Given the description of an element on the screen output the (x, y) to click on. 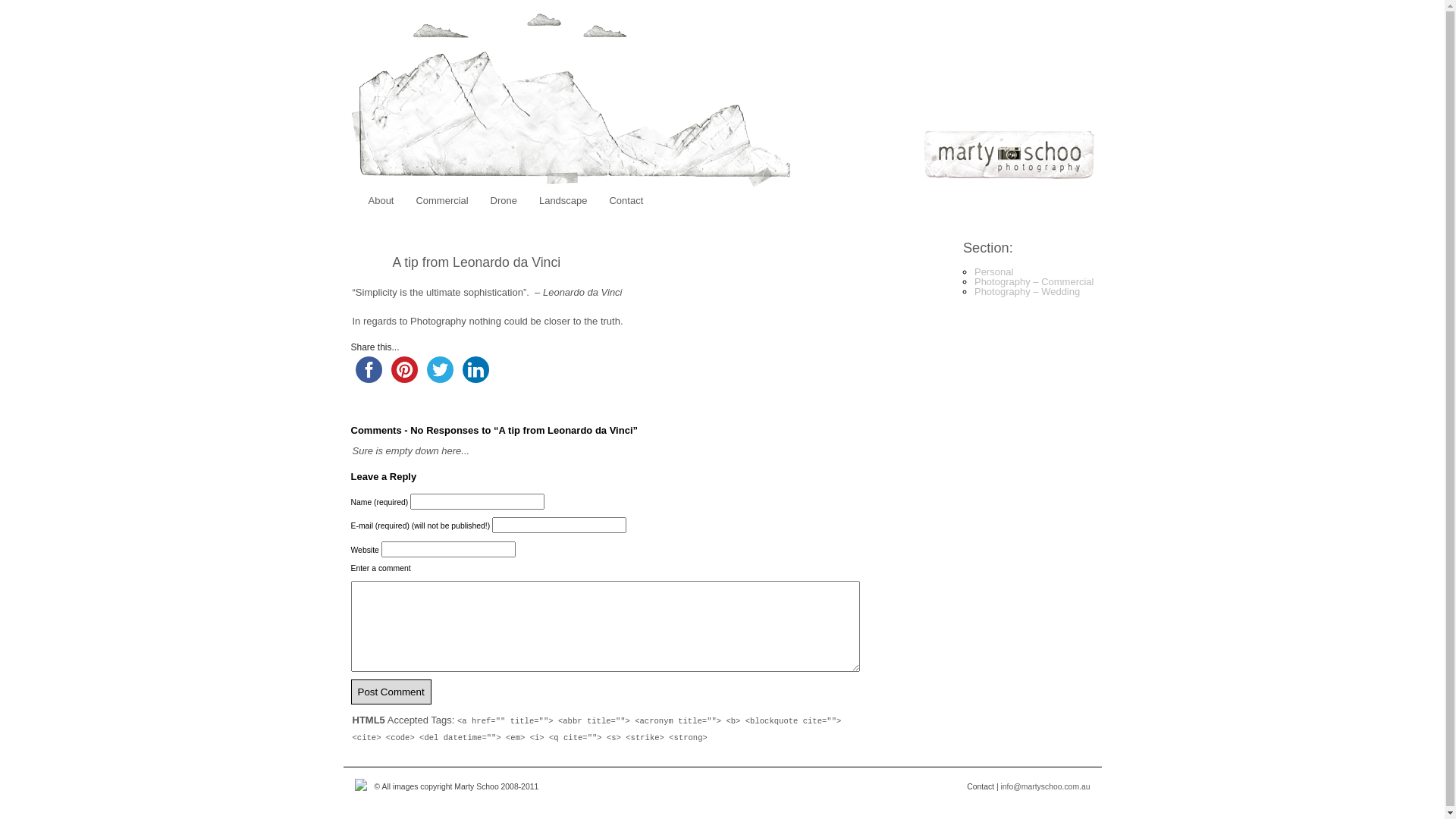
linkedin Element type: hover (475, 369)
Drone Element type: text (503, 200)
About Element type: text (380, 200)
Post Comment Element type: text (390, 691)
Landscape Element type: text (563, 200)
twitter Element type: hover (439, 369)
info@martyschoo.com.au Element type: text (1045, 786)
pinterest Element type: hover (404, 369)
facebook Element type: hover (367, 369)
Commercial Element type: text (441, 200)
Top Element type: text (1408, 782)
Contact Element type: text (625, 200)
Personal Element type: text (993, 271)
